Given the description of an element on the screen output the (x, y) to click on. 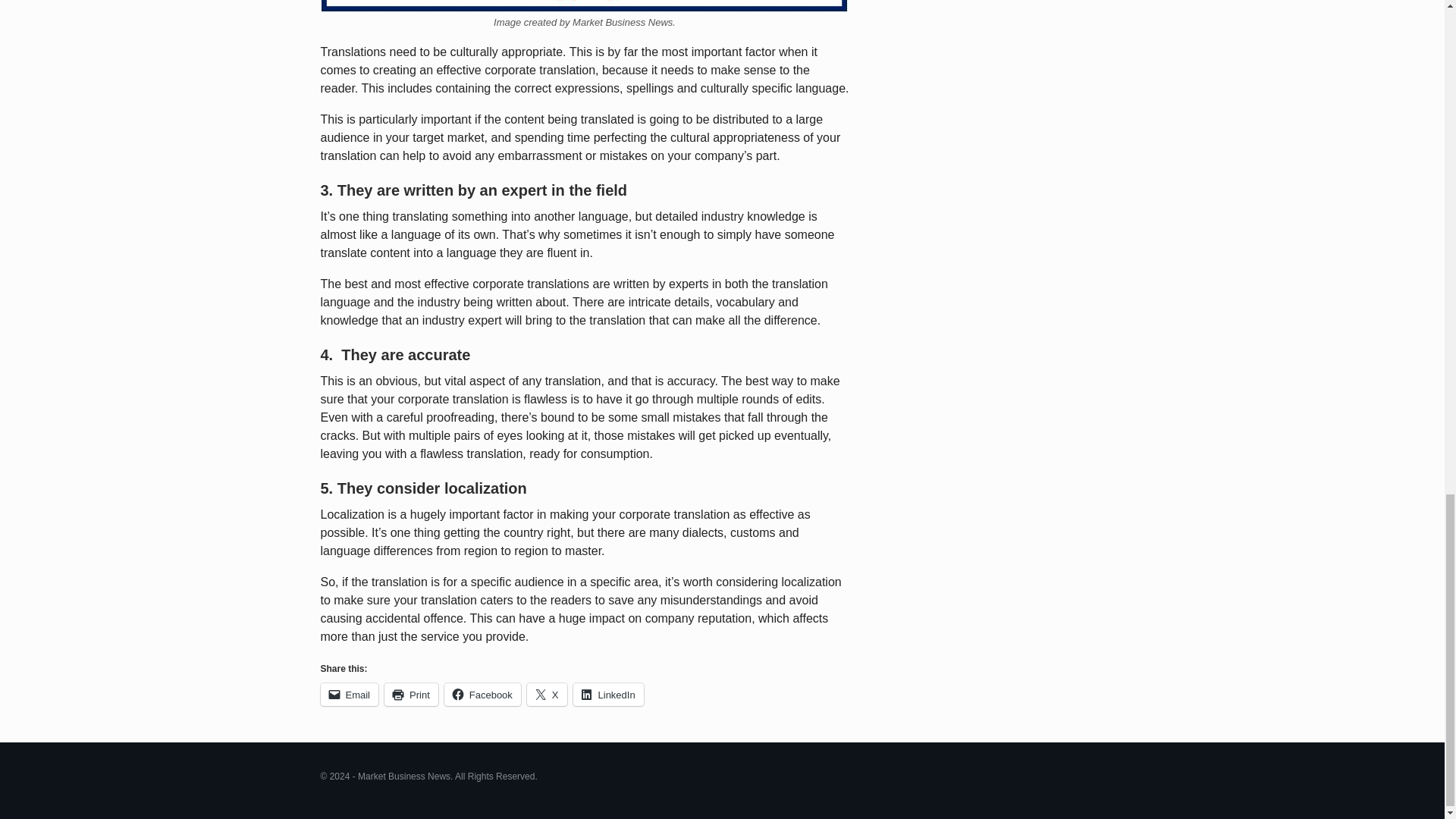
Print (411, 694)
X (547, 694)
Click to print (411, 694)
Click to share on LinkedIn (608, 694)
LinkedIn (608, 694)
Click to share on Facebook (482, 694)
Facebook (482, 694)
Email (349, 694)
Click to email a link to a friend (349, 694)
Click to share on X (547, 694)
